Given the description of an element on the screen output the (x, y) to click on. 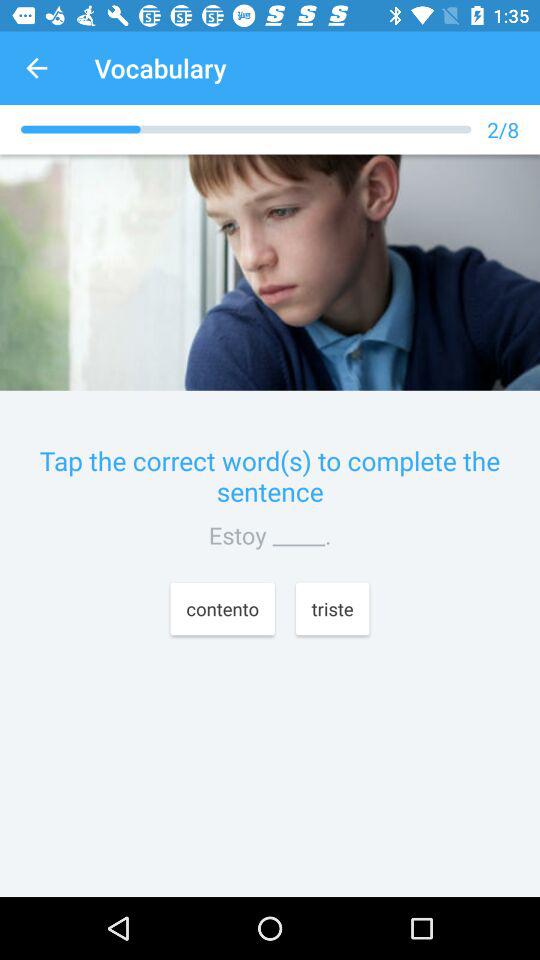
launch app to the left of vocabulary item (36, 68)
